Given the description of an element on the screen output the (x, y) to click on. 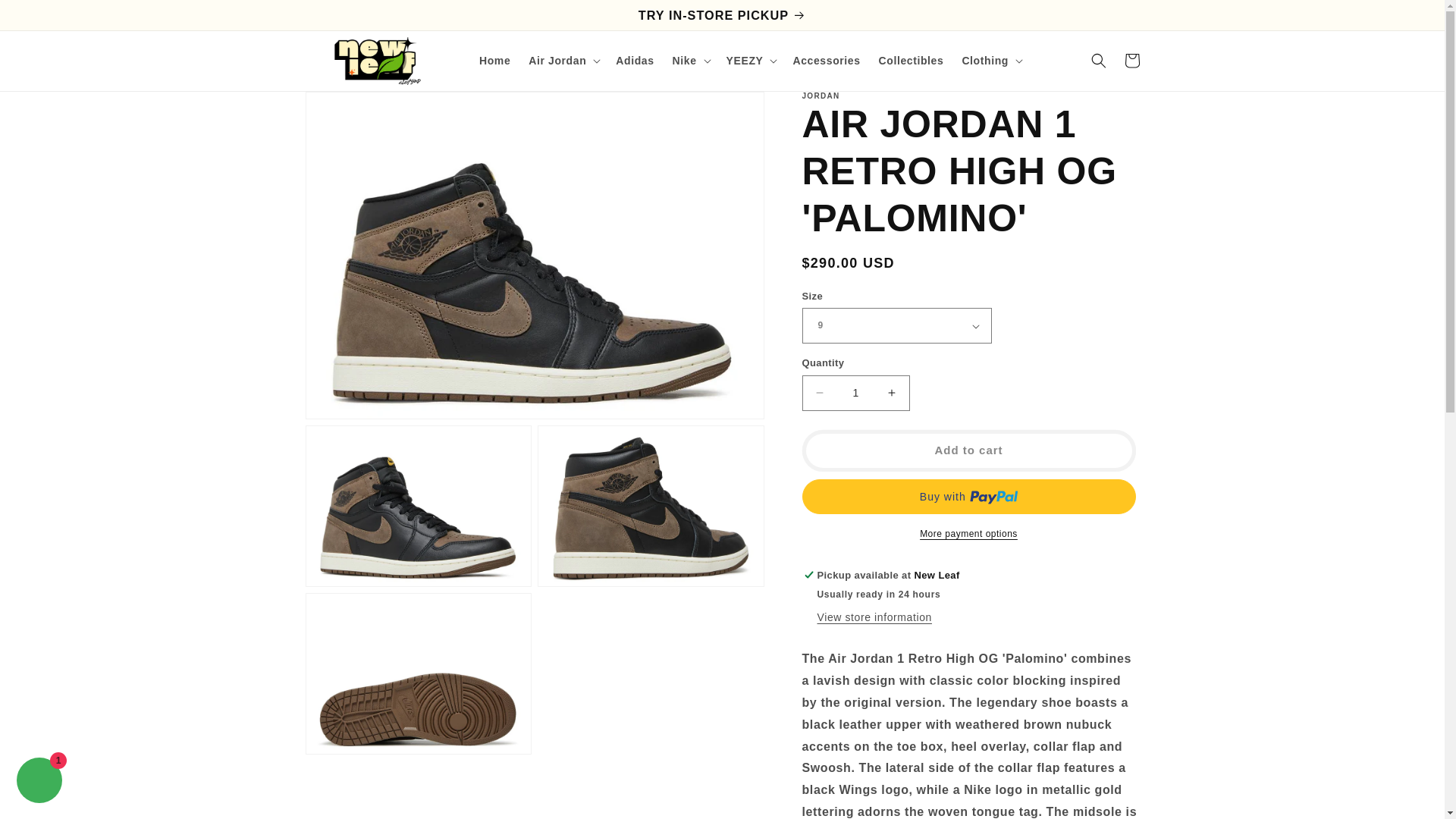
Shopify online store chat (38, 781)
1 (856, 393)
Skip to content (48, 20)
